Given the description of an element on the screen output the (x, y) to click on. 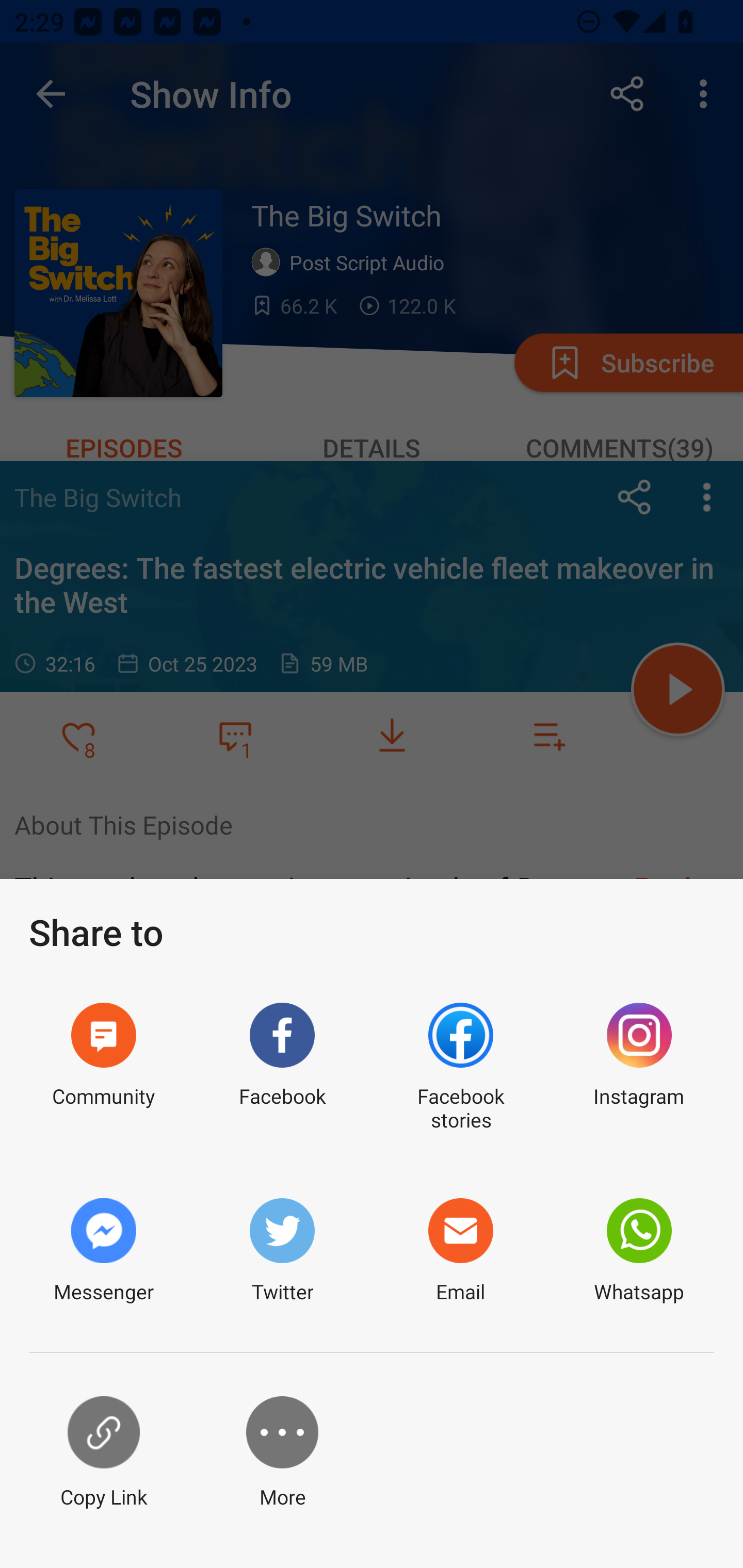
Community (103, 1067)
Facebook (282, 1067)
Facebook stories (460, 1067)
Instagram (638, 1067)
Messenger (103, 1251)
Twitter (282, 1251)
Email (460, 1251)
Whatsapp (638, 1251)
Copy Link (103, 1453)
More (282, 1453)
